Given the description of an element on the screen output the (x, y) to click on. 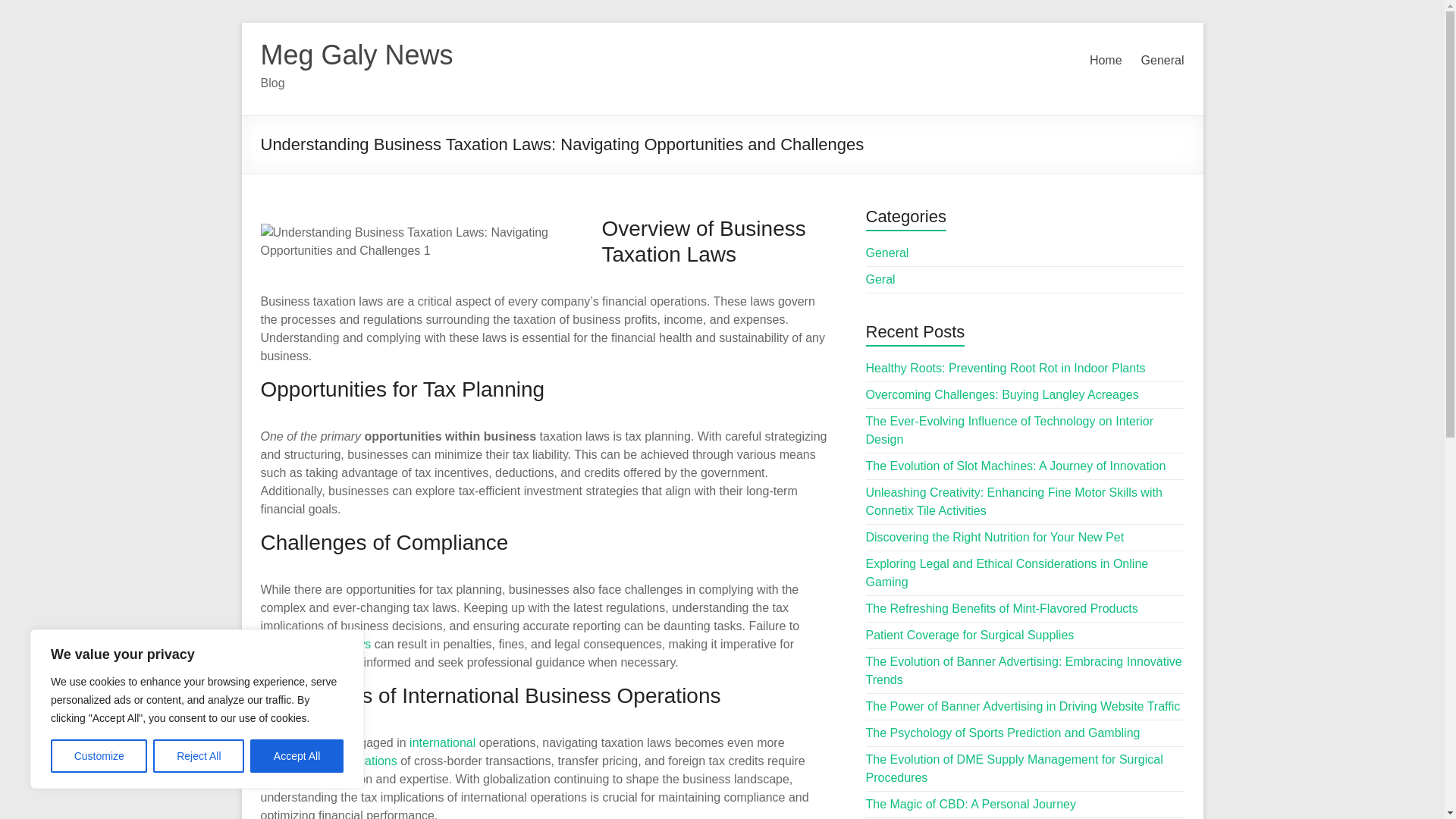
Geral (880, 278)
Exploring Legal and Ethical Considerations in Online Gaming (1007, 572)
tax laws (349, 644)
Overcoming Challenges: Buying Langley Acreages (1002, 394)
Home (1105, 60)
implications (365, 760)
General (887, 252)
Meg Galy News (356, 54)
Discovering the Right Nutrition for Your New Pet (995, 536)
Customize (98, 756)
Healthy Roots: Preventing Root Rot in Indoor Plants (1005, 367)
Accept All (296, 756)
The Ever-Evolving Influence of Technology on Interior Design (1009, 429)
